Given the description of an element on the screen output the (x, y) to click on. 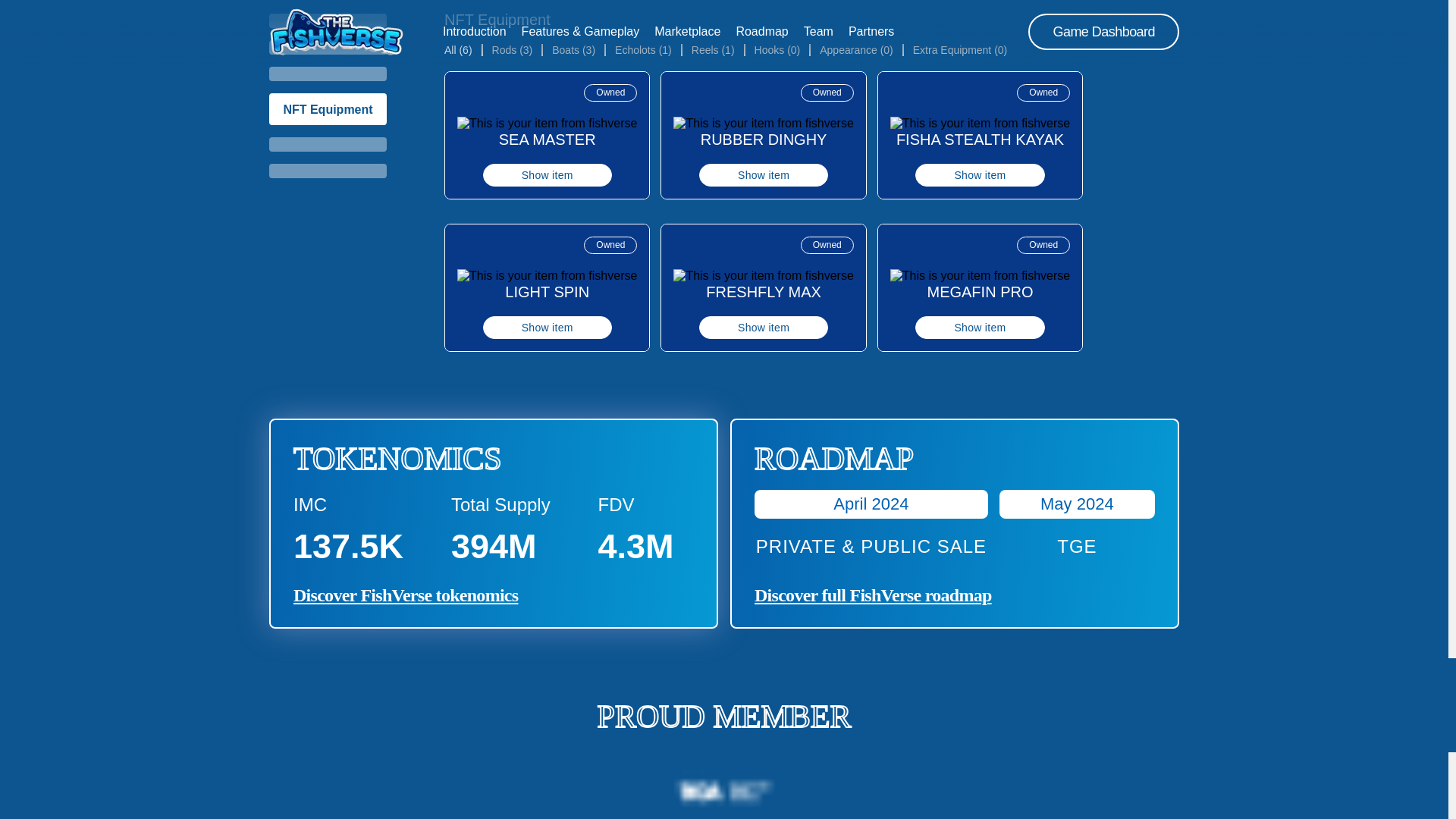
Show item (979, 174)
Show item (979, 327)
Show item (547, 327)
Show item (763, 327)
Discover FishVerse tokenomics (406, 595)
Show item (763, 174)
Discover full FishVerse roadmap (872, 595)
Show item (547, 174)
